Given the description of an element on the screen output the (x, y) to click on. 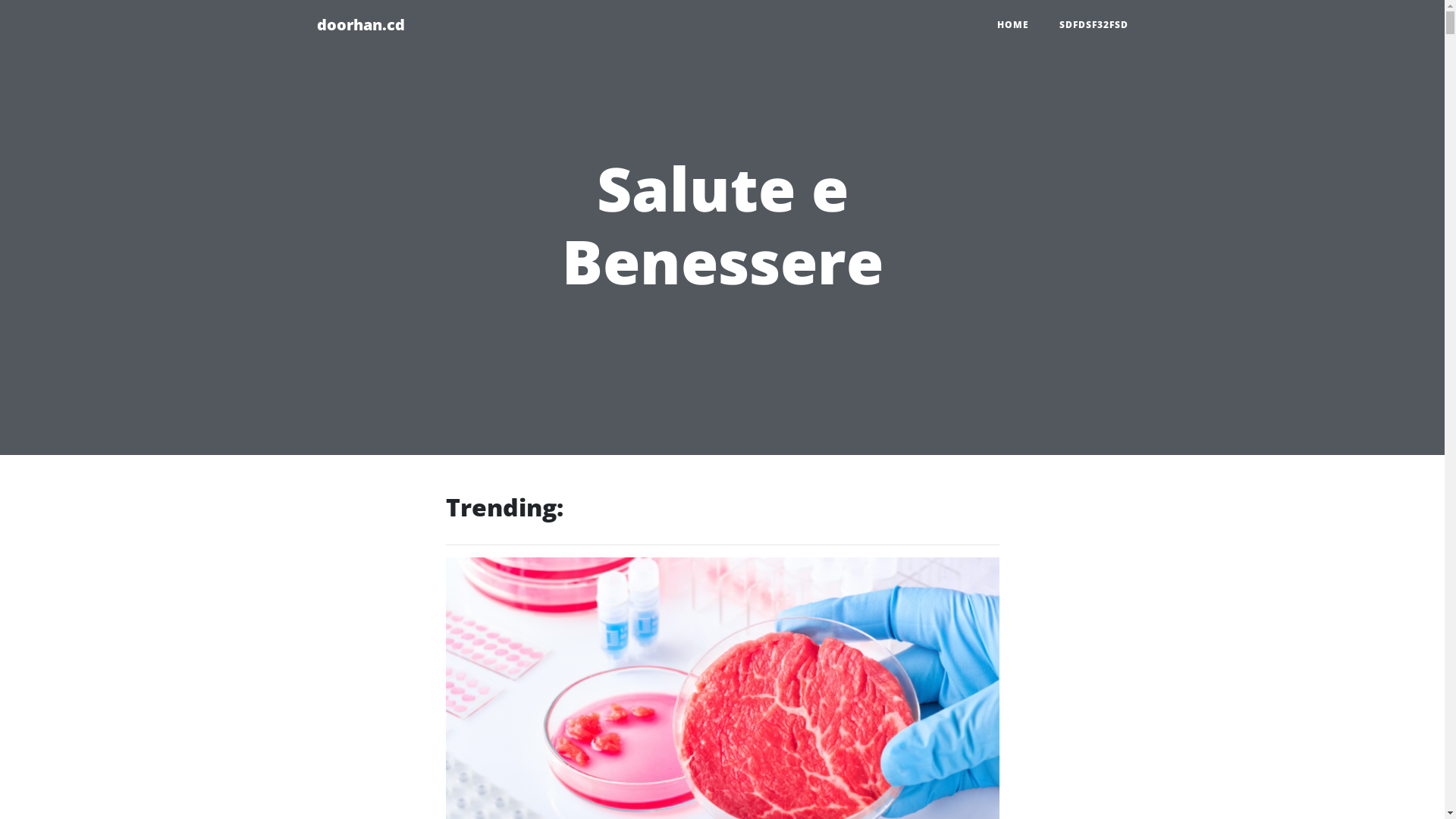
doorhan.cd Element type: text (360, 24)
SDFDSF32FSD Element type: text (1092, 24)
HOME Element type: text (1012, 24)
